Given the description of an element on the screen output the (x, y) to click on. 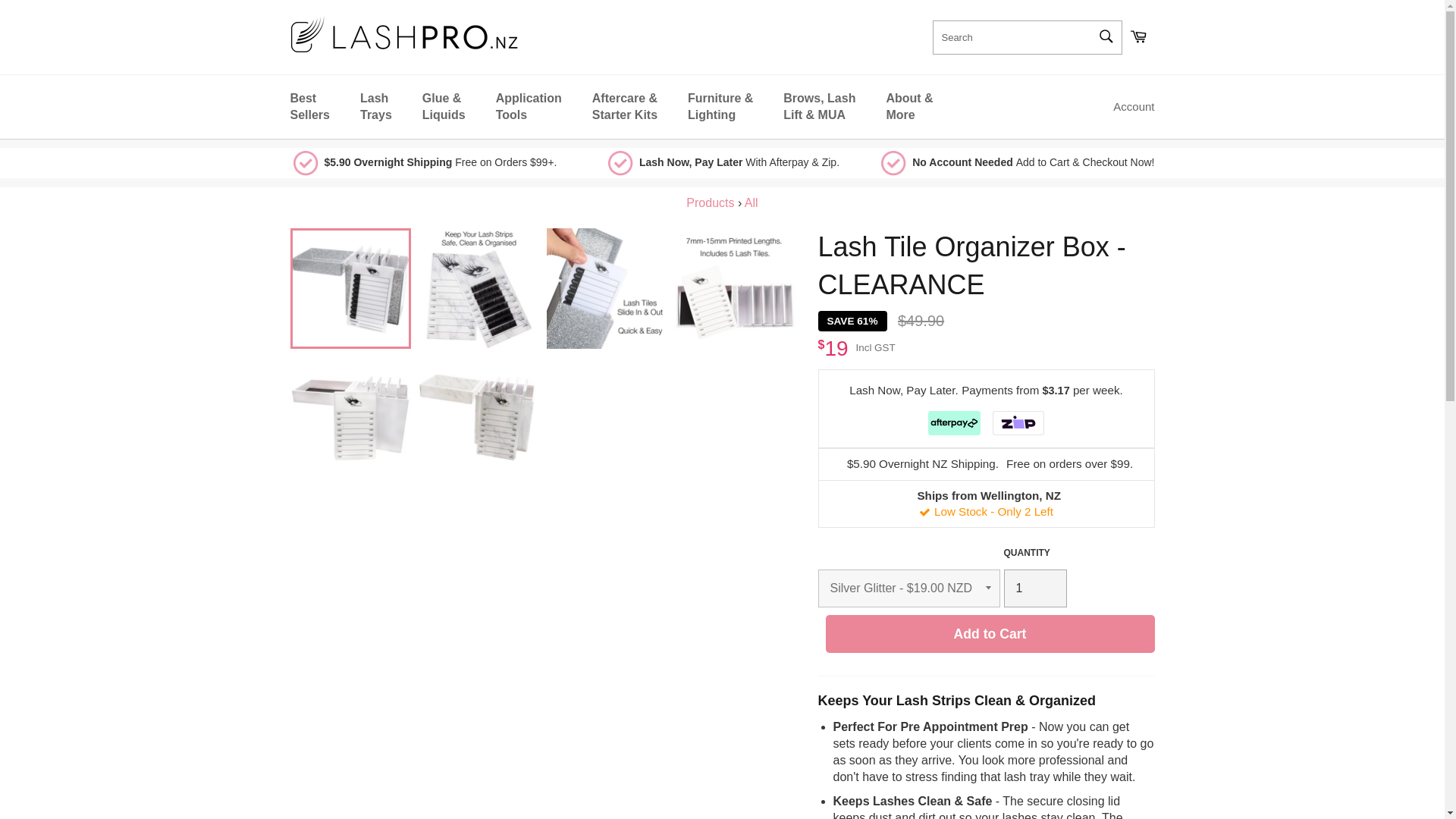
1 (1035, 588)
Shipping (986, 463)
Lash Now, Pay Later (737, 162)
Shipping (440, 162)
Collections (709, 202)
